Given the description of an element on the screen output the (x, y) to click on. 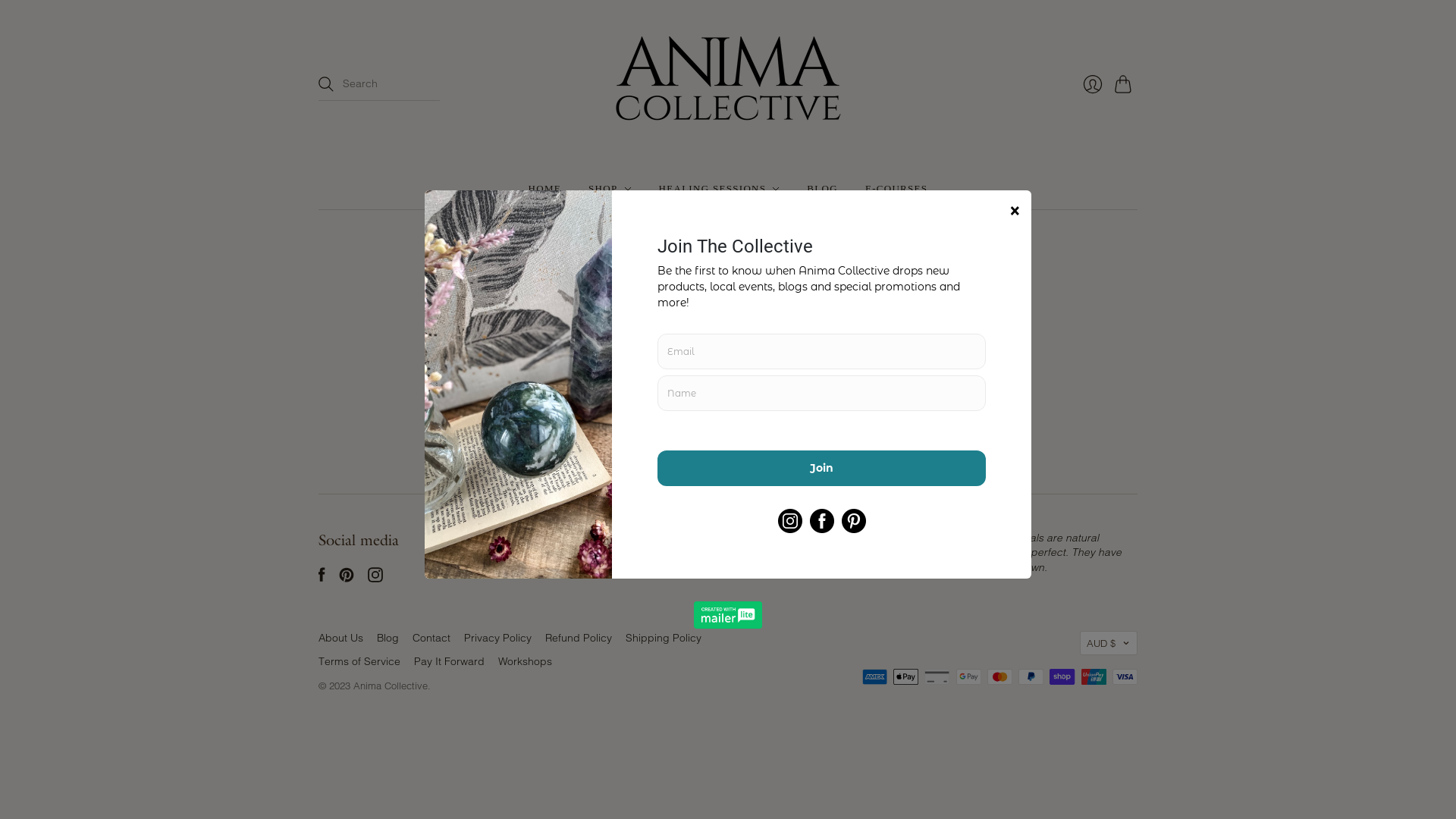
Contact Element type: text (431, 637)
Refund Policy Element type: text (578, 637)
Pay It Forward Element type: text (449, 661)
Cart Element type: text (1125, 84)
E-COURSES Element type: text (896, 188)
Anima Collective Element type: text (390, 685)
AUD $ Element type: text (1108, 642)
Continue Shopping Element type: text (769, 374)
HEALING SESSIONS Element type: text (719, 188)
About Us Element type: text (340, 637)
Blog Element type: text (387, 637)
Privacy Policy Element type: text (497, 637)
HOME Element type: text (544, 188)
Login Element type: text (1092, 84)
BLOG Element type: text (821, 188)
Workshops Element type: text (525, 661)
Shipping Policy Element type: text (663, 637)
Search Element type: text (938, 425)
SHOP Element type: text (609, 188)
Terms of Service Element type: text (359, 661)
